Given the description of an element on the screen output the (x, y) to click on. 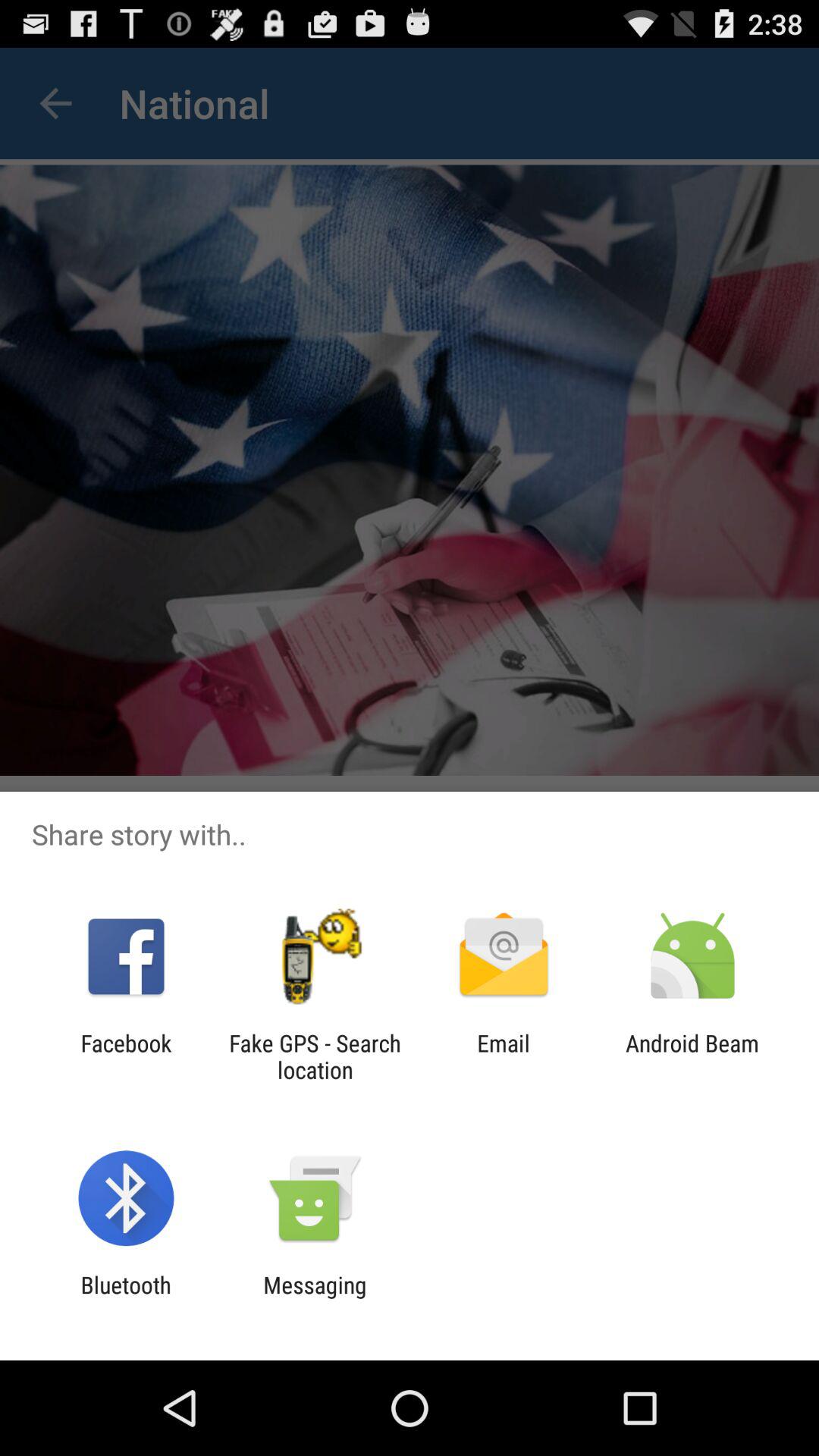
flip until email item (503, 1056)
